Given the description of an element on the screen output the (x, y) to click on. 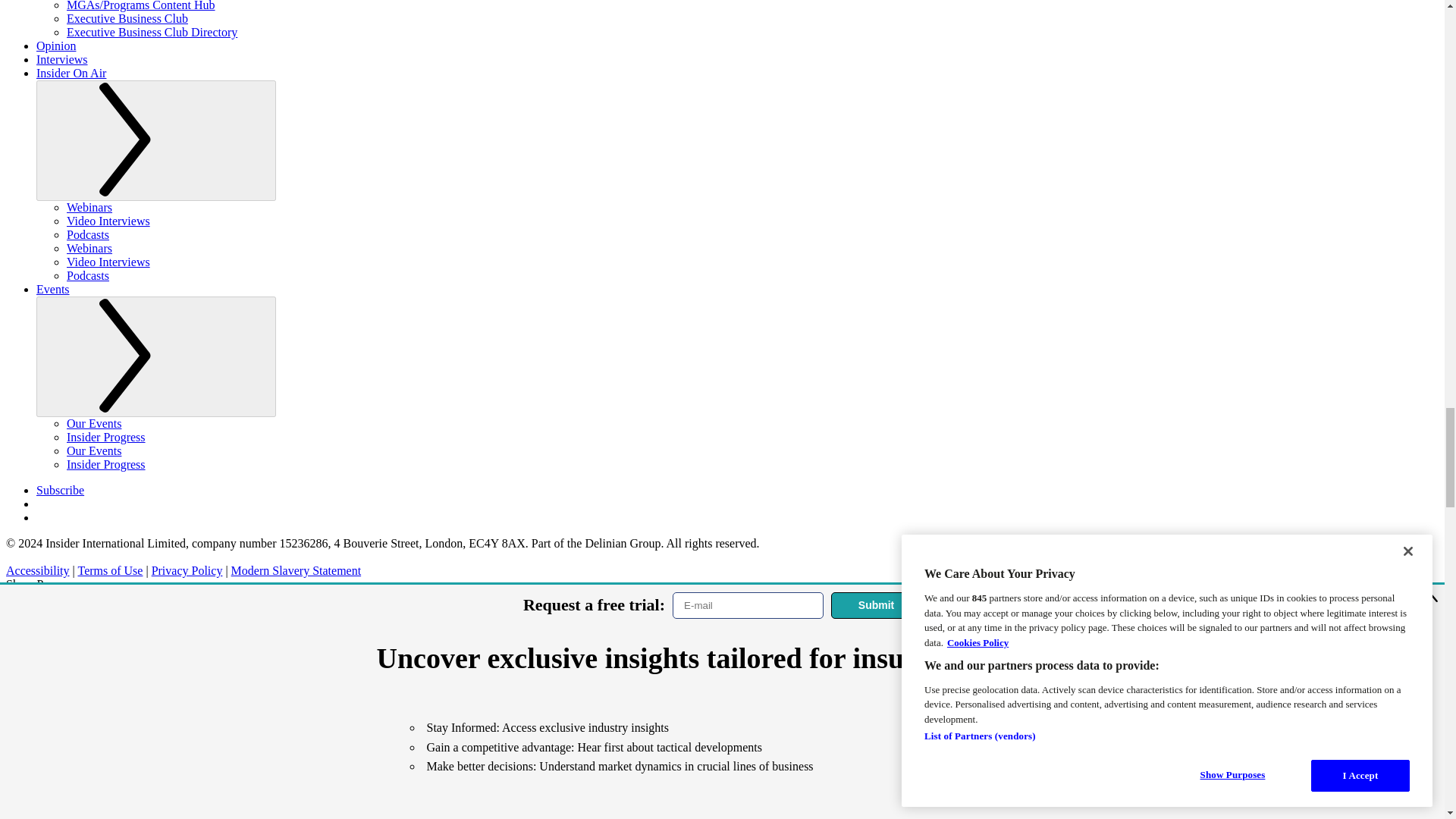
Share (218, 815)
